Given the description of an element on the screen output the (x, y) to click on. 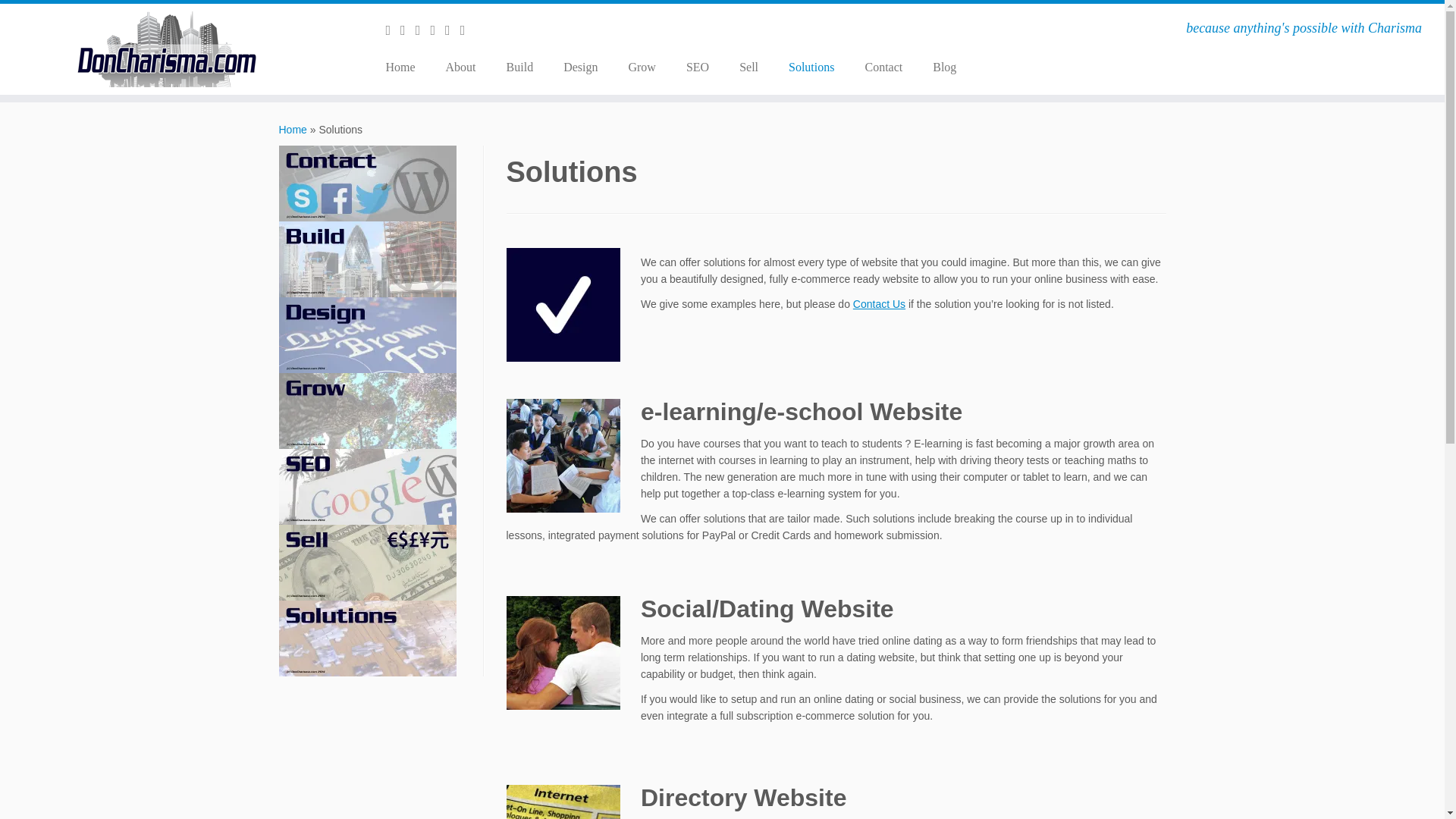
Contact (882, 67)
Sell (748, 67)
Follow me on Twitter (407, 29)
Blog (936, 67)
About (461, 67)
SEO (697, 67)
Solutions (810, 67)
Grow (640, 67)
Design (580, 67)
Contact Us (879, 304)
Home (293, 129)
Home (405, 67)
Follow me on WordPress (437, 29)
Don Charisma (293, 129)
